Given the description of an element on the screen output the (x, y) to click on. 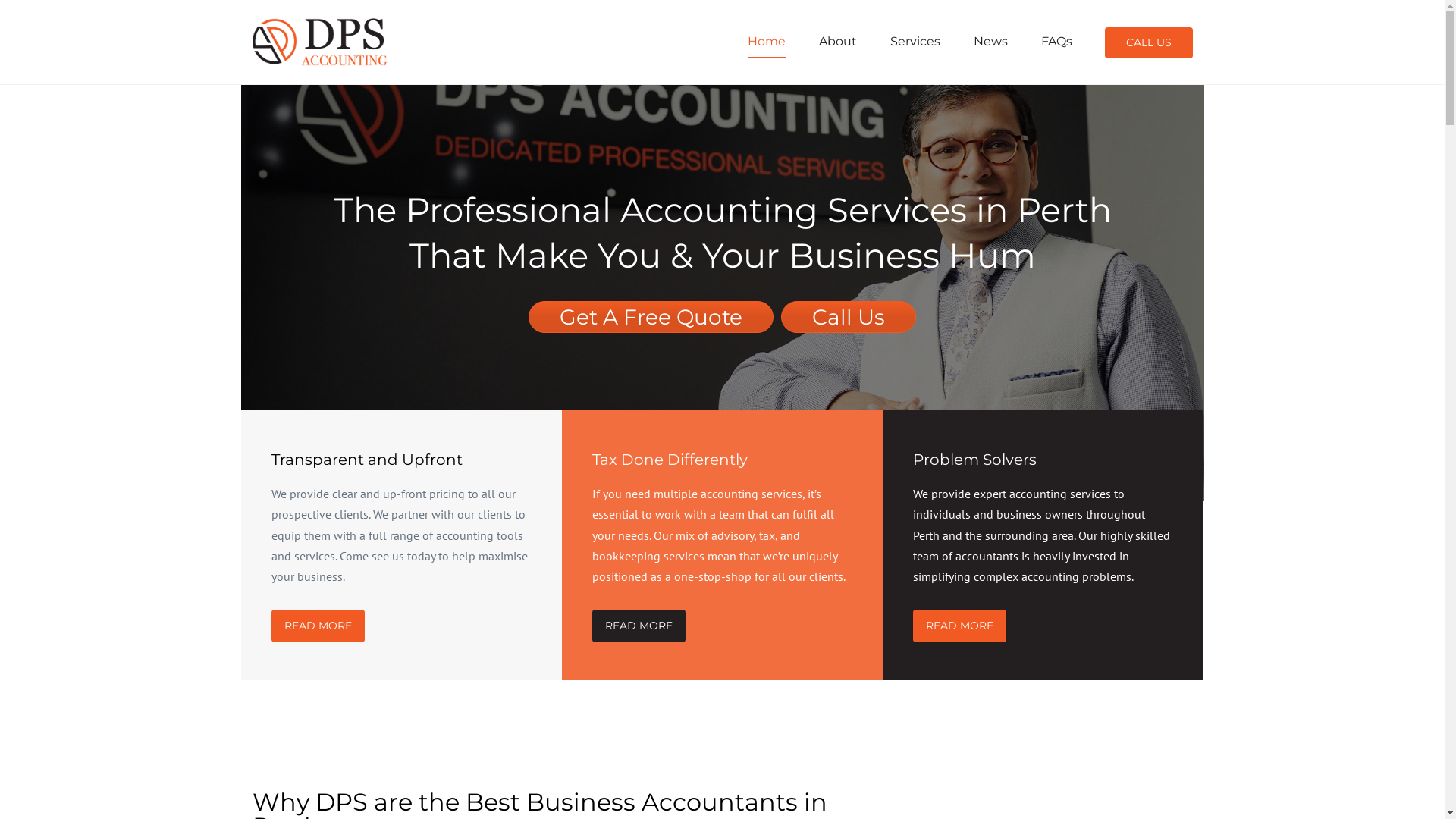
Get A Free Quote Element type: text (650, 316)
FAQs Element type: text (1055, 41)
READ MORE Element type: text (959, 625)
READ MORE Element type: text (317, 625)
READ MORE Element type: text (638, 625)
Home Element type: text (766, 41)
About Element type: text (837, 41)
News Element type: text (990, 41)
Call Us Element type: text (848, 316)
Services Element type: text (914, 41)
CALL US Element type: text (1148, 42)
